Given the description of an element on the screen output the (x, y) to click on. 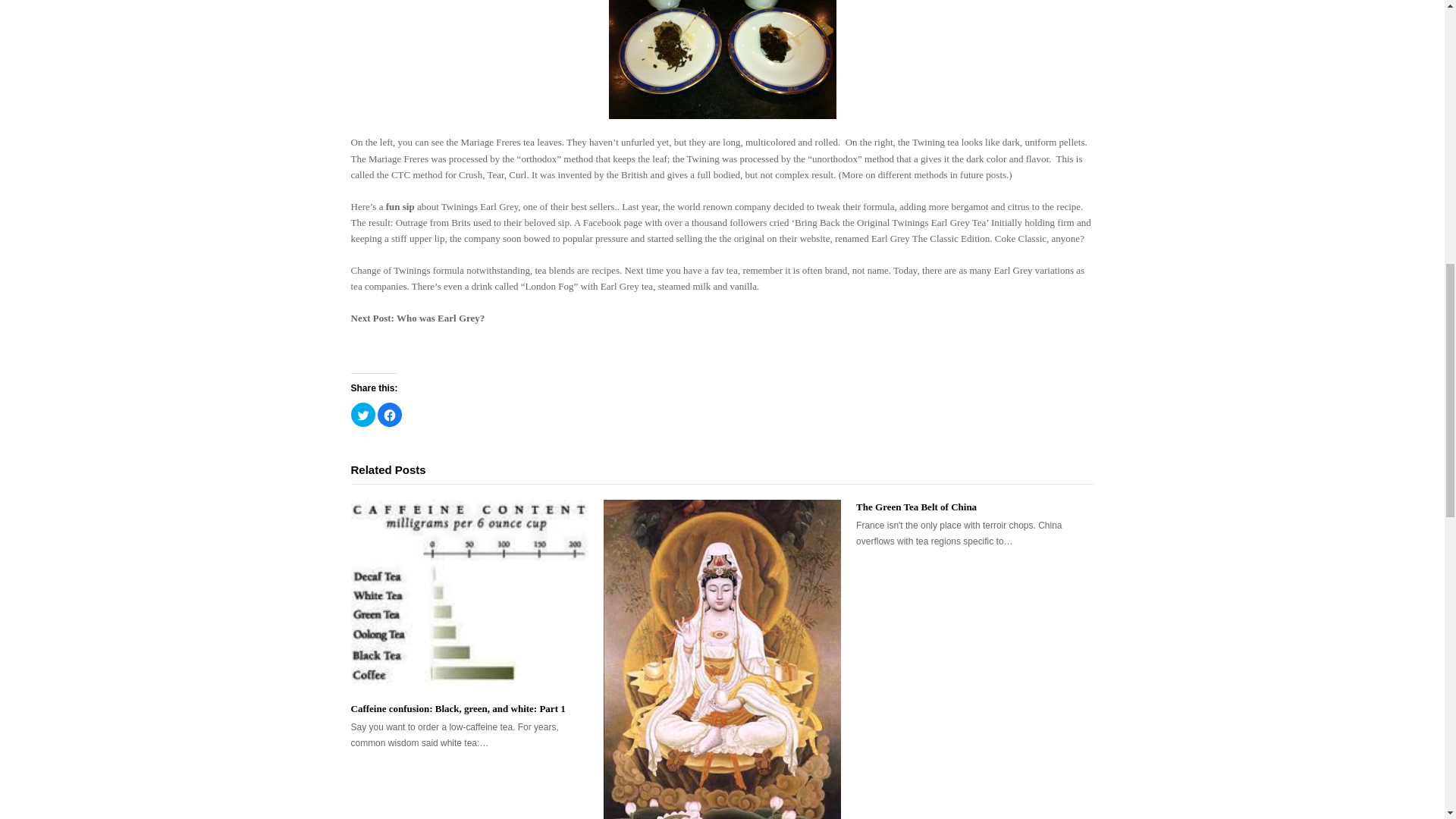
Caffeine confusion: Black, green, and white: Part 1 (469, 595)
tea bags cut open (721, 59)
The Green Tea Belt of China (916, 506)
Caffeine confusion: Black, green, and white: Part 1 (457, 708)
Click to share on Twitter (362, 414)
Click to share on Facebook (389, 414)
